Given the description of an element on the screen output the (x, y) to click on. 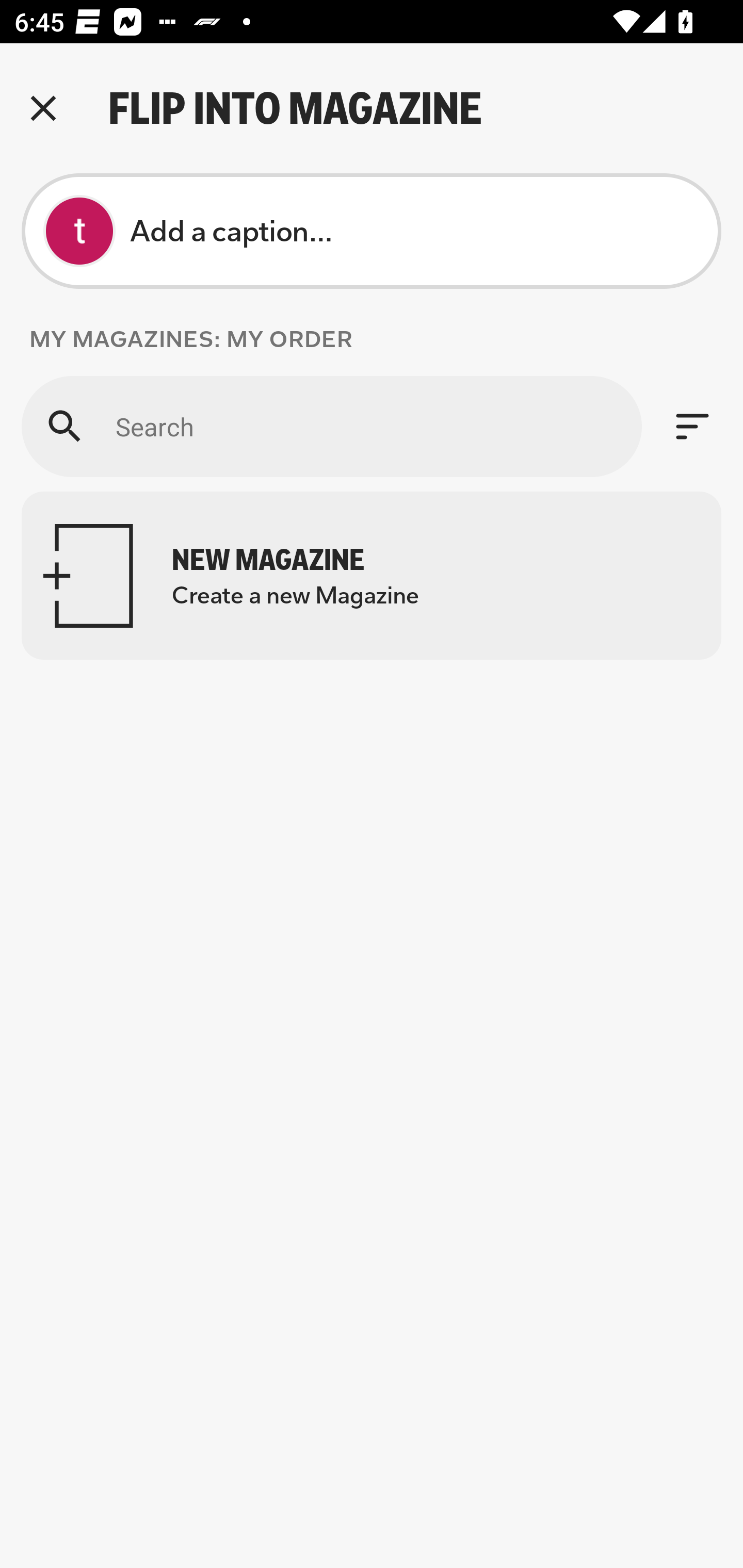
test appium Add a caption… (371, 231)
Search (331, 426)
NEW MAGAZINE Create a new Magazine (371, 575)
